Given the description of an element on the screen output the (x, y) to click on. 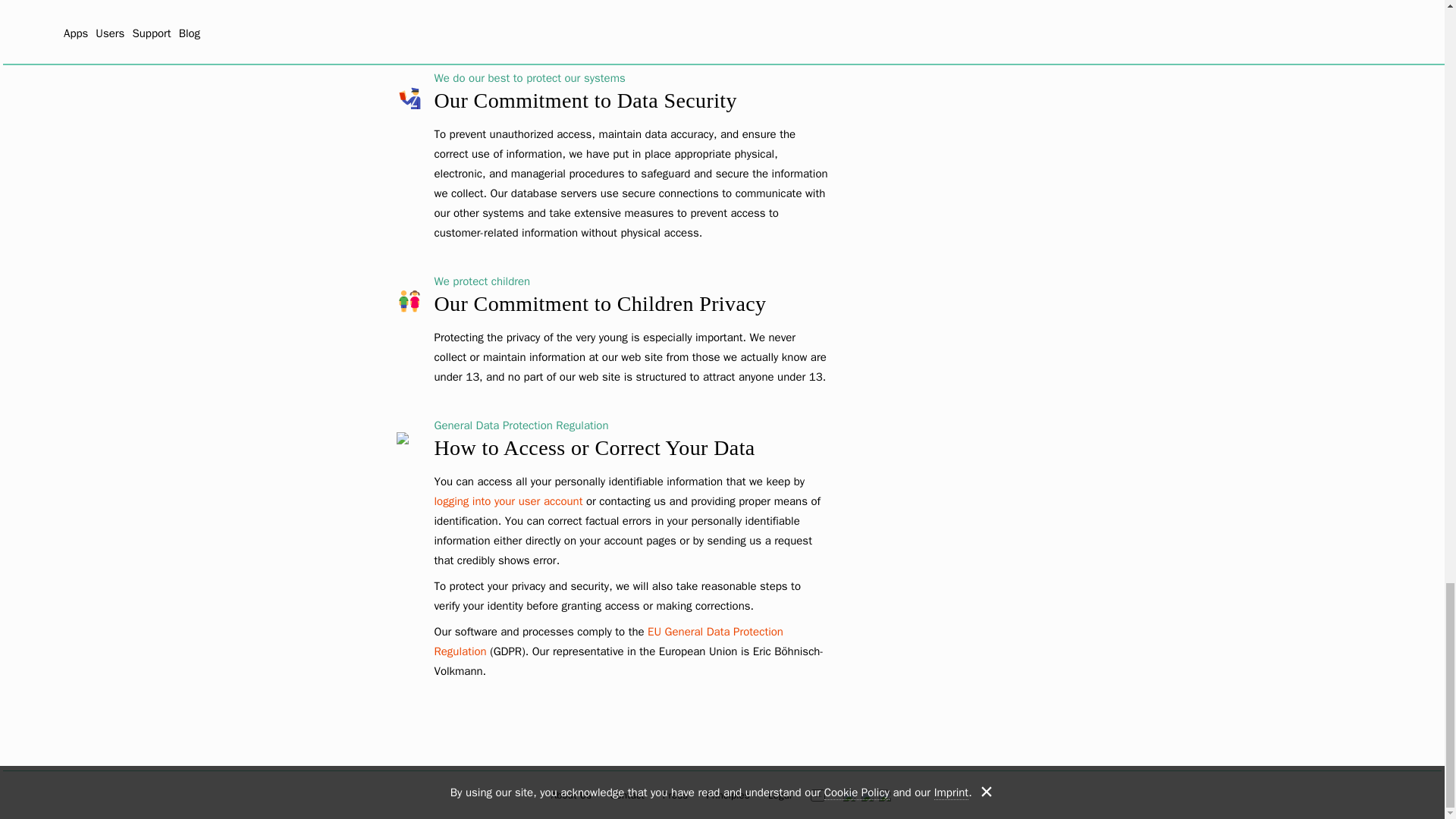
Legal (780, 794)
Principles (727, 794)
Press (674, 794)
EU General Data Protection Regulation (608, 641)
About Us (571, 794)
Contact (626, 794)
logging into your user account (507, 500)
